Given the description of an element on the screen output the (x, y) to click on. 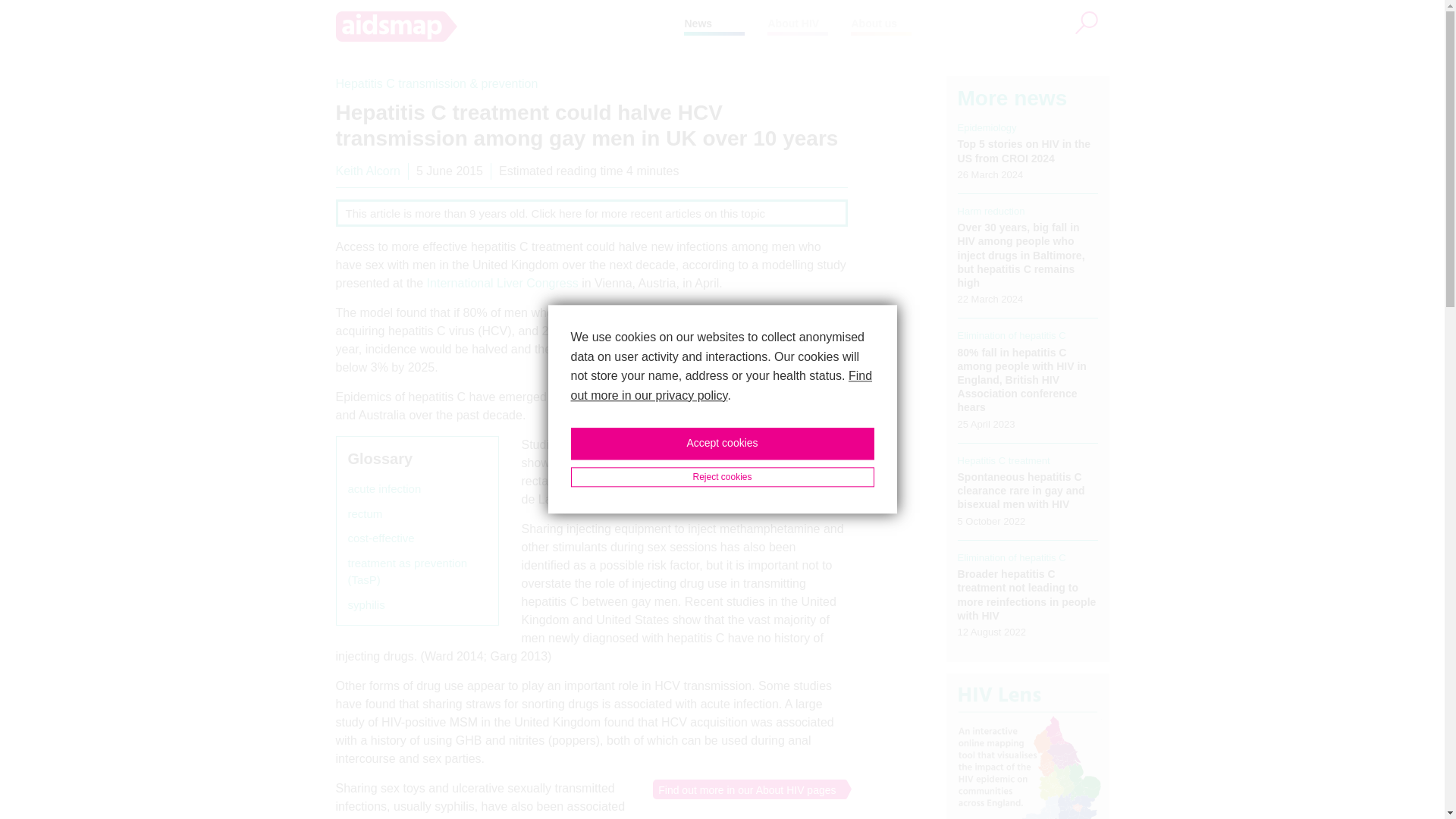
Keith Alcorn (366, 170)
Top 5 stories on HIV in the US from CROI 2024 (1024, 150)
syphilis (365, 605)
Glossary (379, 458)
cost-effective (380, 538)
About HIV (792, 23)
Hepatitis C treatment (1003, 460)
Harm reduction (991, 211)
rectum (364, 514)
Epidemiology (987, 127)
acute infection (383, 488)
Find out more in our About HIV pages (743, 789)
Home (509, 26)
